Given the description of an element on the screen output the (x, y) to click on. 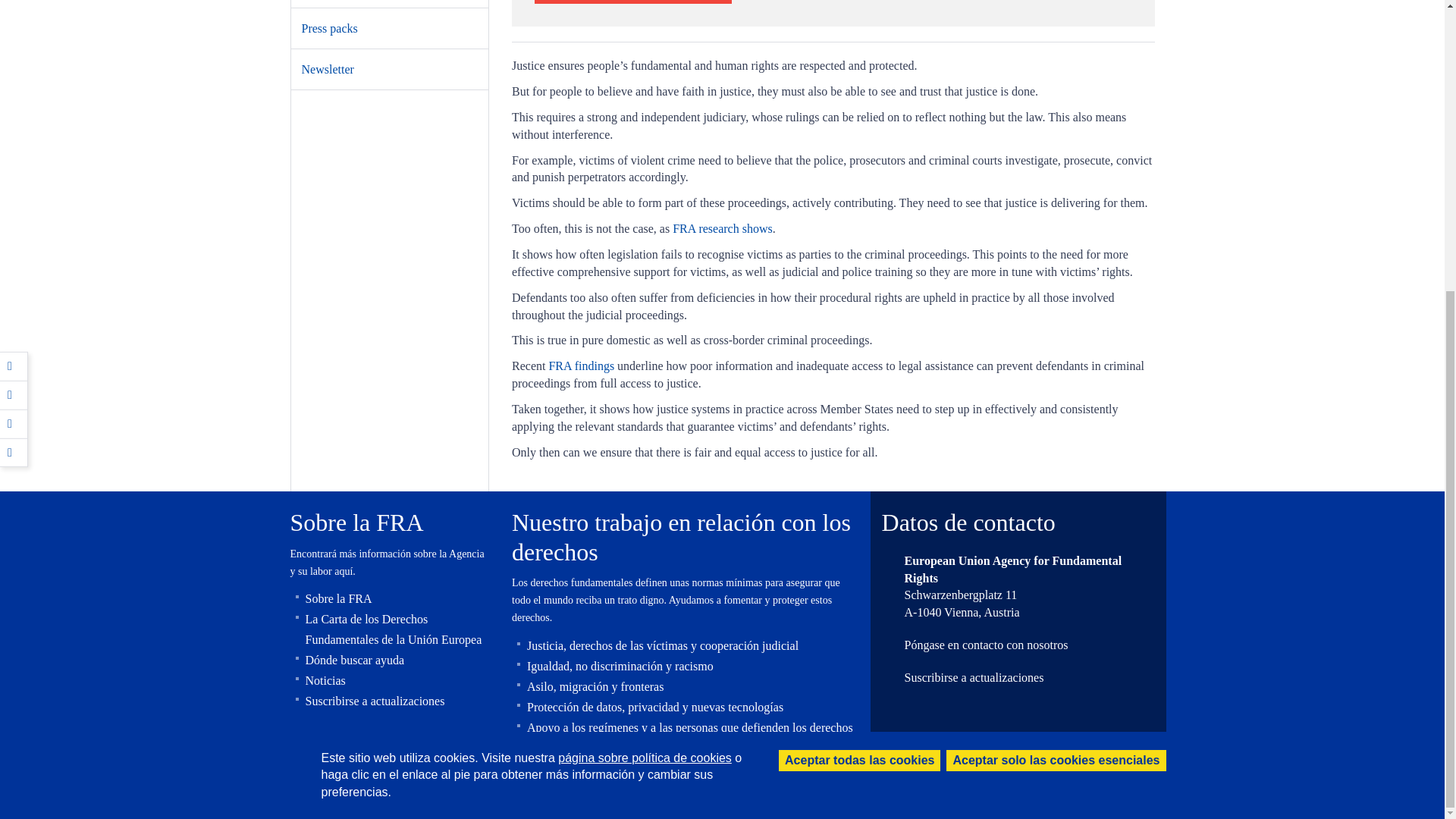
Aceptar solo las cookies esenciales (1056, 315)
Aceptar todas las cookies (859, 315)
